Given the description of an element on the screen output the (x, y) to click on. 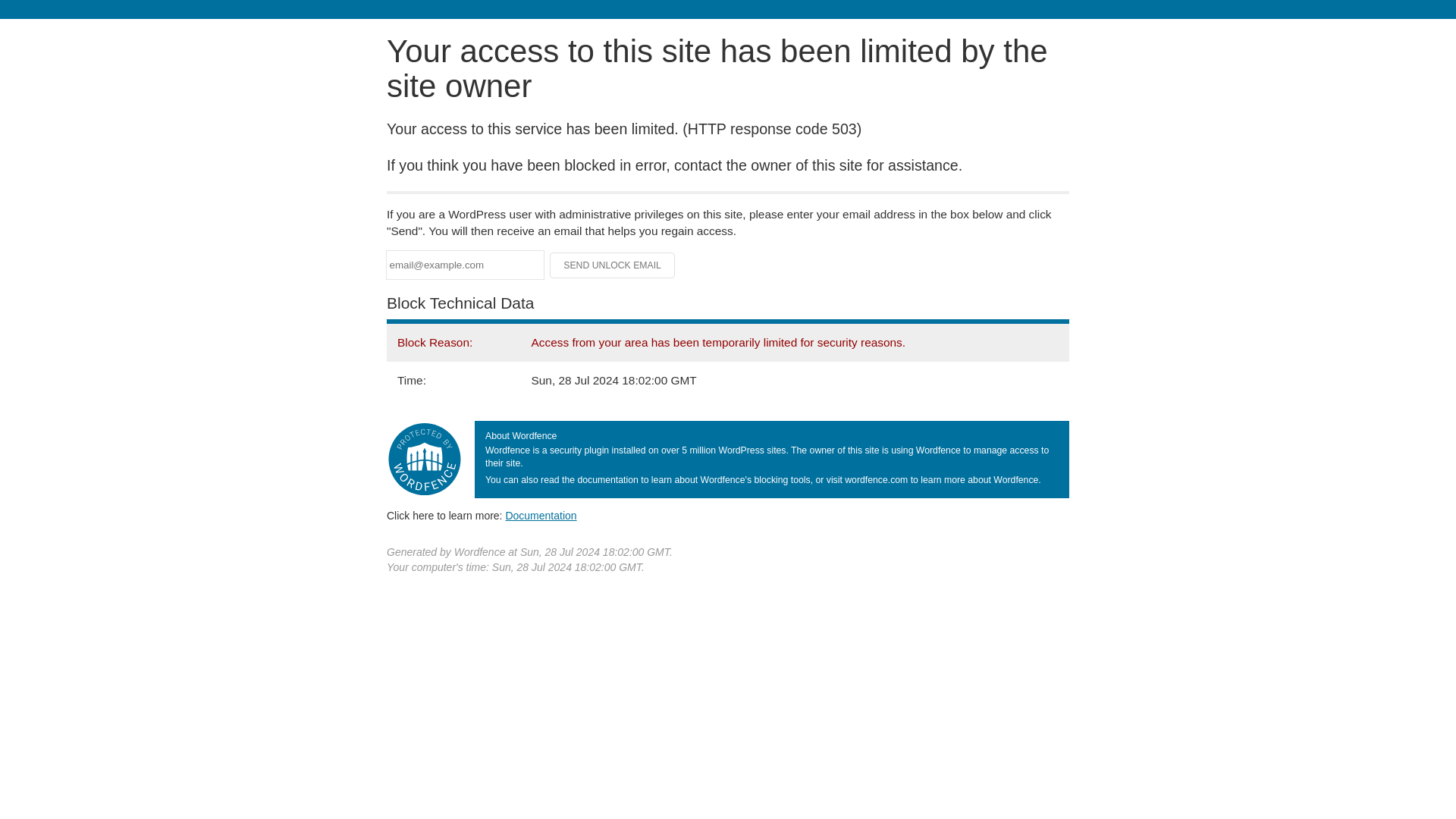
Documentation (540, 515)
Send Unlock Email (612, 265)
Send Unlock Email (612, 265)
